Given the description of an element on the screen output the (x, y) to click on. 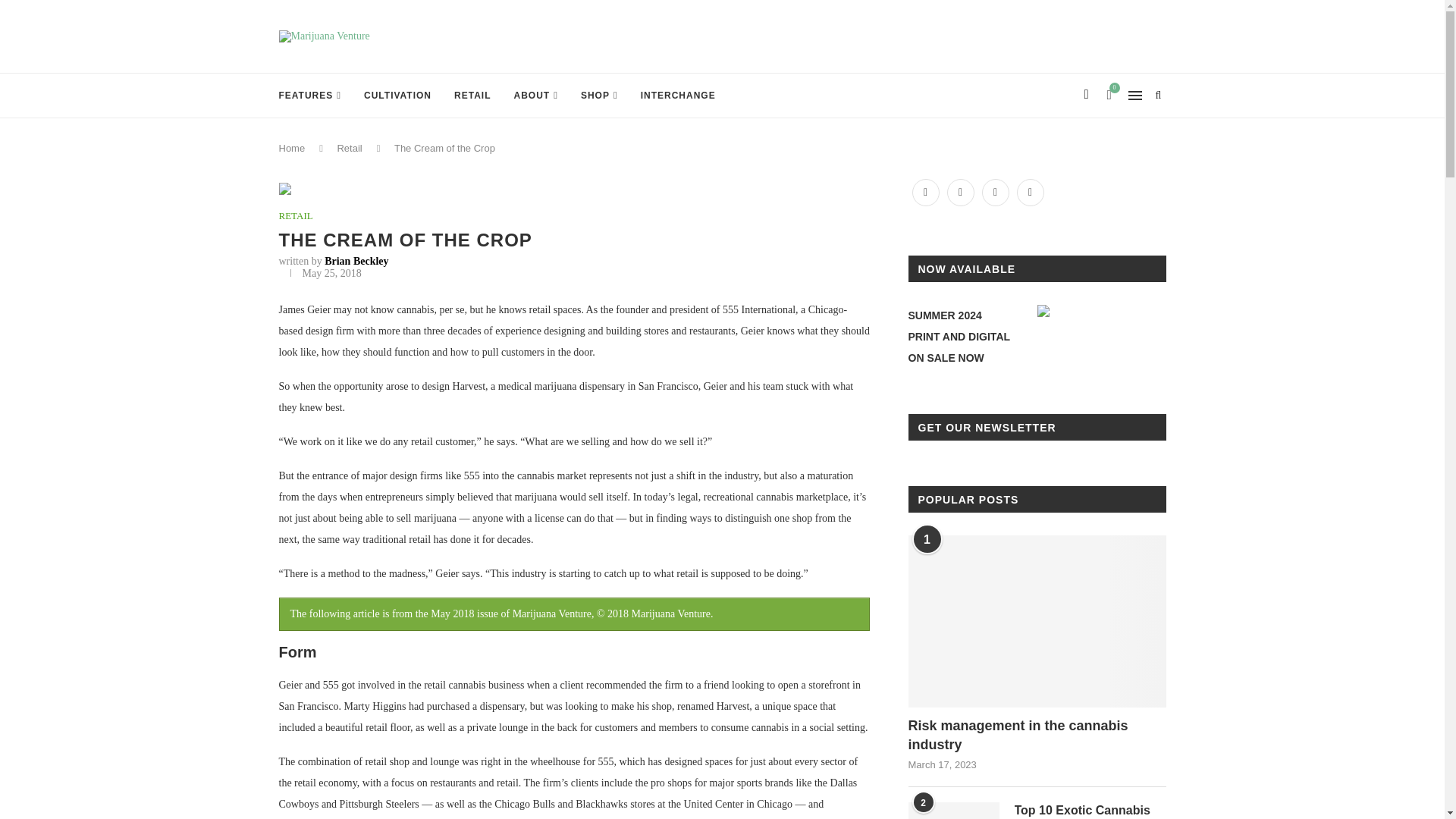
ABOUT (535, 95)
CULTIVATION (397, 95)
INTERCHANGE (678, 95)
FEATURES (310, 95)
